Given the description of an element on the screen output the (x, y) to click on. 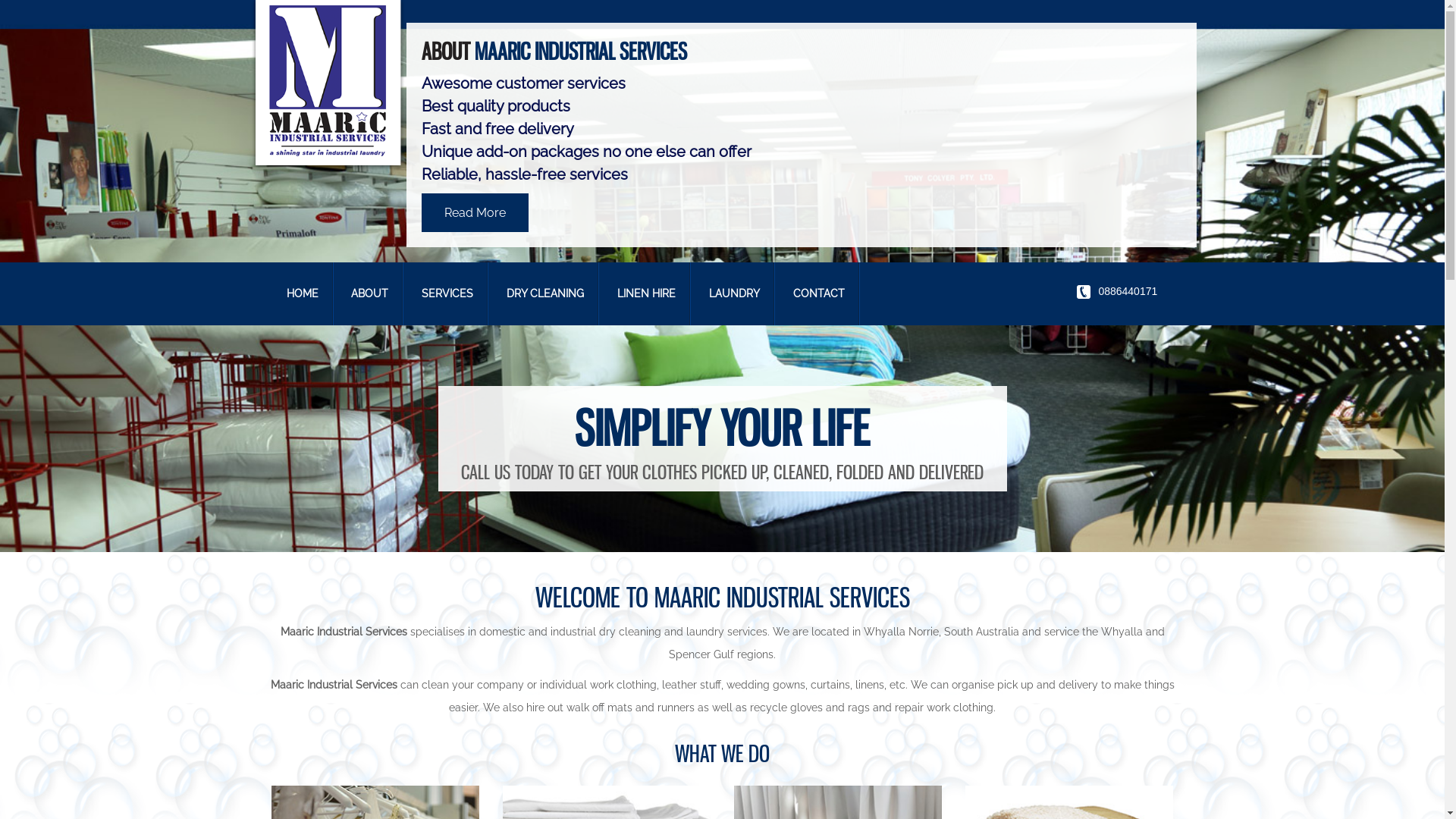
HOME Element type: text (302, 293)
CONTACT Element type: text (818, 293)
Read More Element type: text (474, 212)
LAUNDRY Element type: text (734, 293)
LINEN HIRE Element type: text (646, 293)
DRY CLEANING Element type: text (545, 293)
0886440171 Element type: text (1127, 291)
SERVICES Element type: text (447, 293)
ABOUT Element type: text (369, 293)
